Given the description of an element on the screen output the (x, y) to click on. 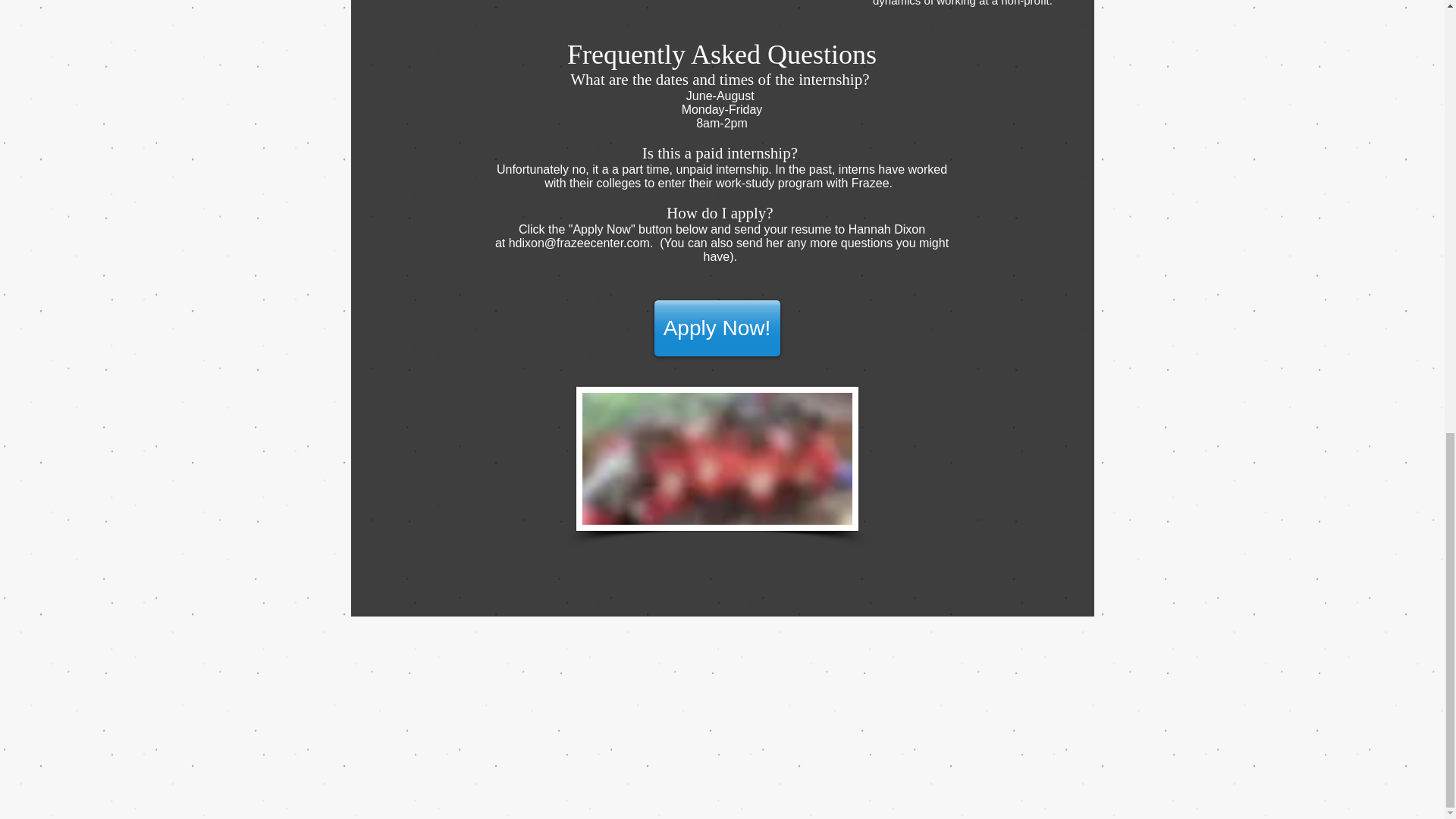
Apply Now! (715, 328)
